Given the description of an element on the screen output the (x, y) to click on. 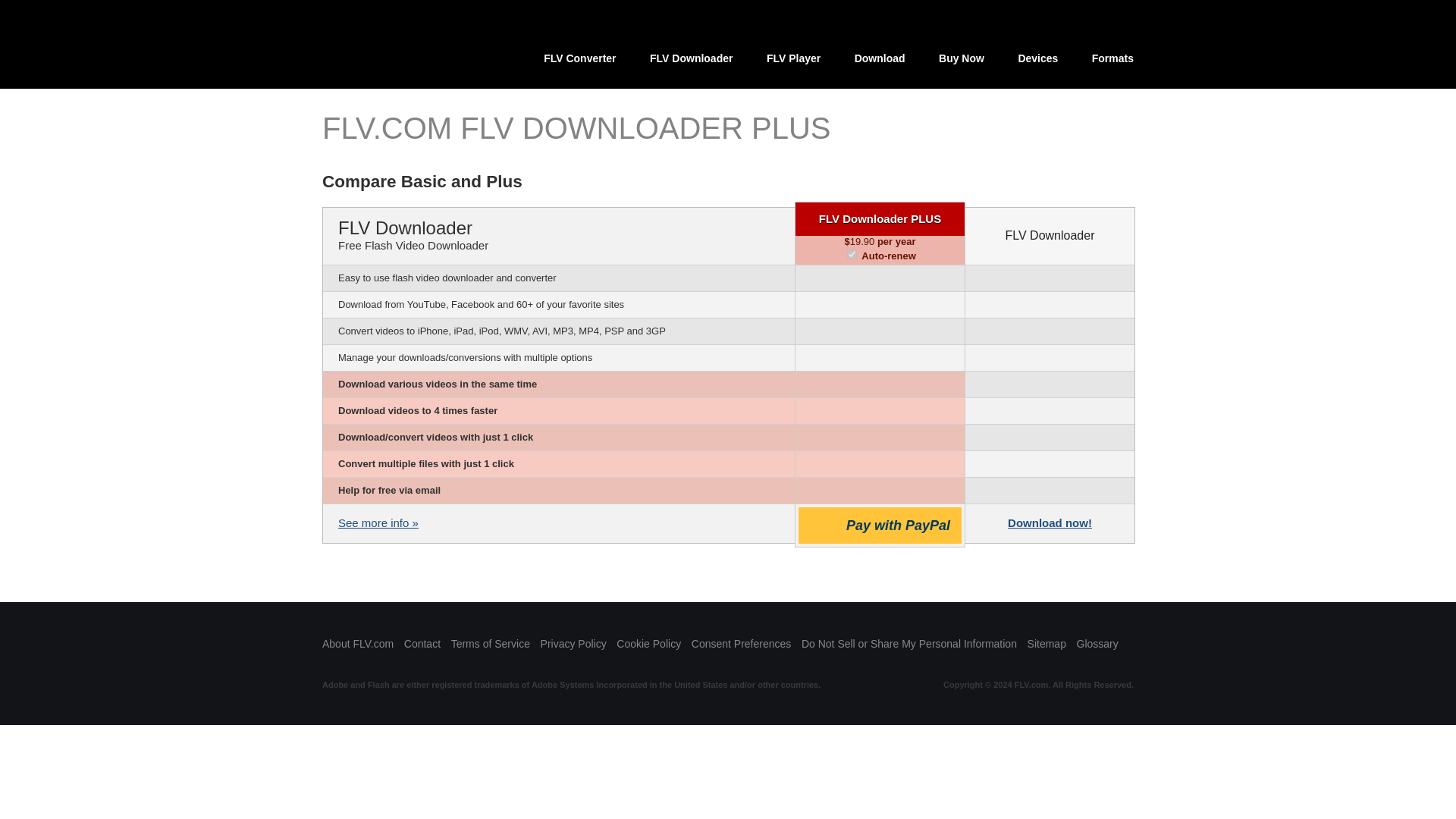
Contact (422, 644)
Devices (1038, 64)
Pay with PayPal (878, 524)
Download (880, 64)
Download now! (1049, 526)
Formats (1112, 64)
FLV Converter (579, 64)
Privacy Policy (573, 644)
About FLV.com (357, 644)
Cookie Policy (648, 644)
Dowload FLV Downloader (1049, 526)
FLV Downloader (691, 64)
Consent Preferences (741, 644)
Terms of Service (490, 644)
Sitemap (1046, 644)
